Given the description of an element on the screen output the (x, y) to click on. 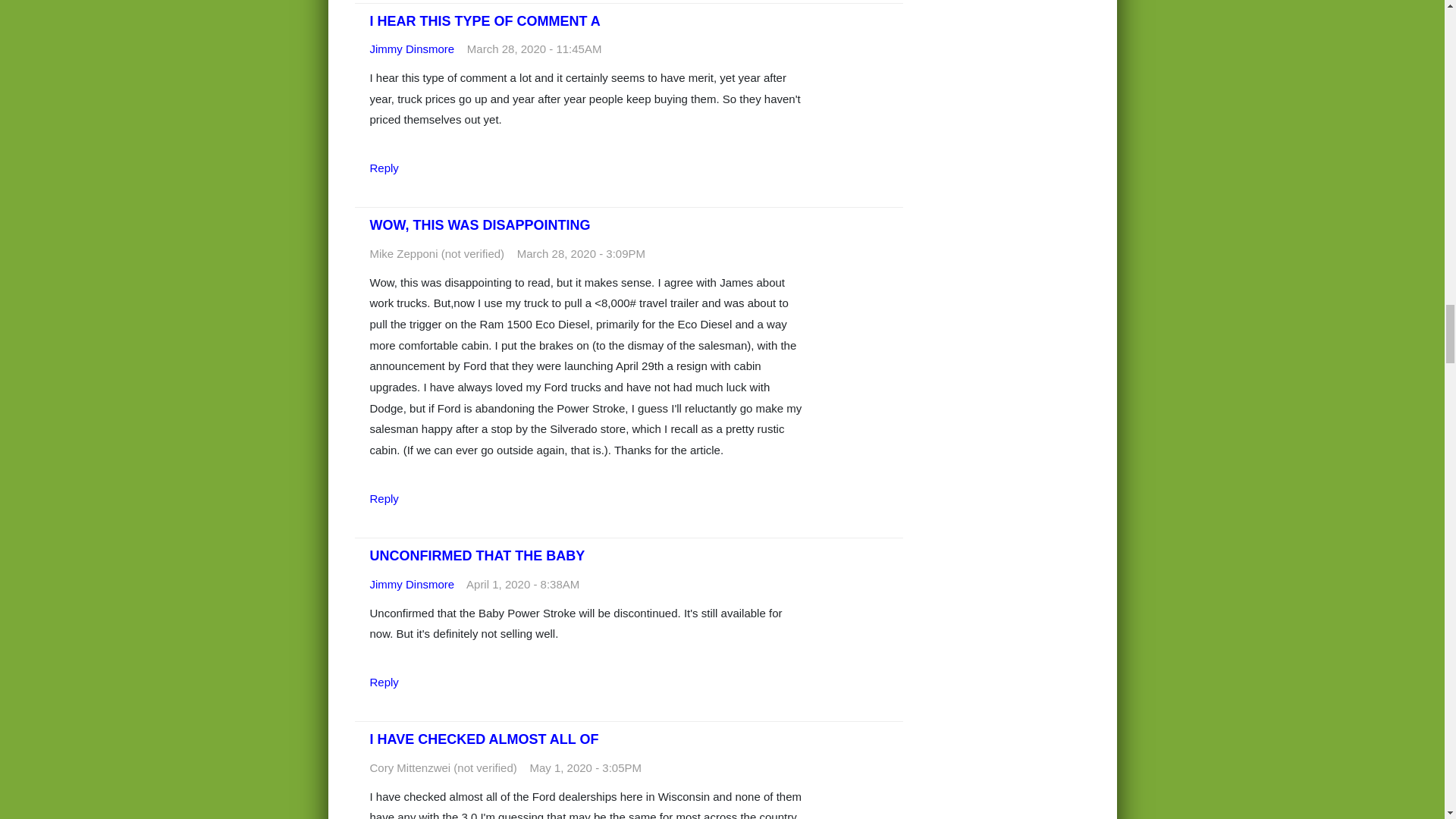
View user profile. (411, 48)
View user profile. (411, 584)
